Given the description of an element on the screen output the (x, y) to click on. 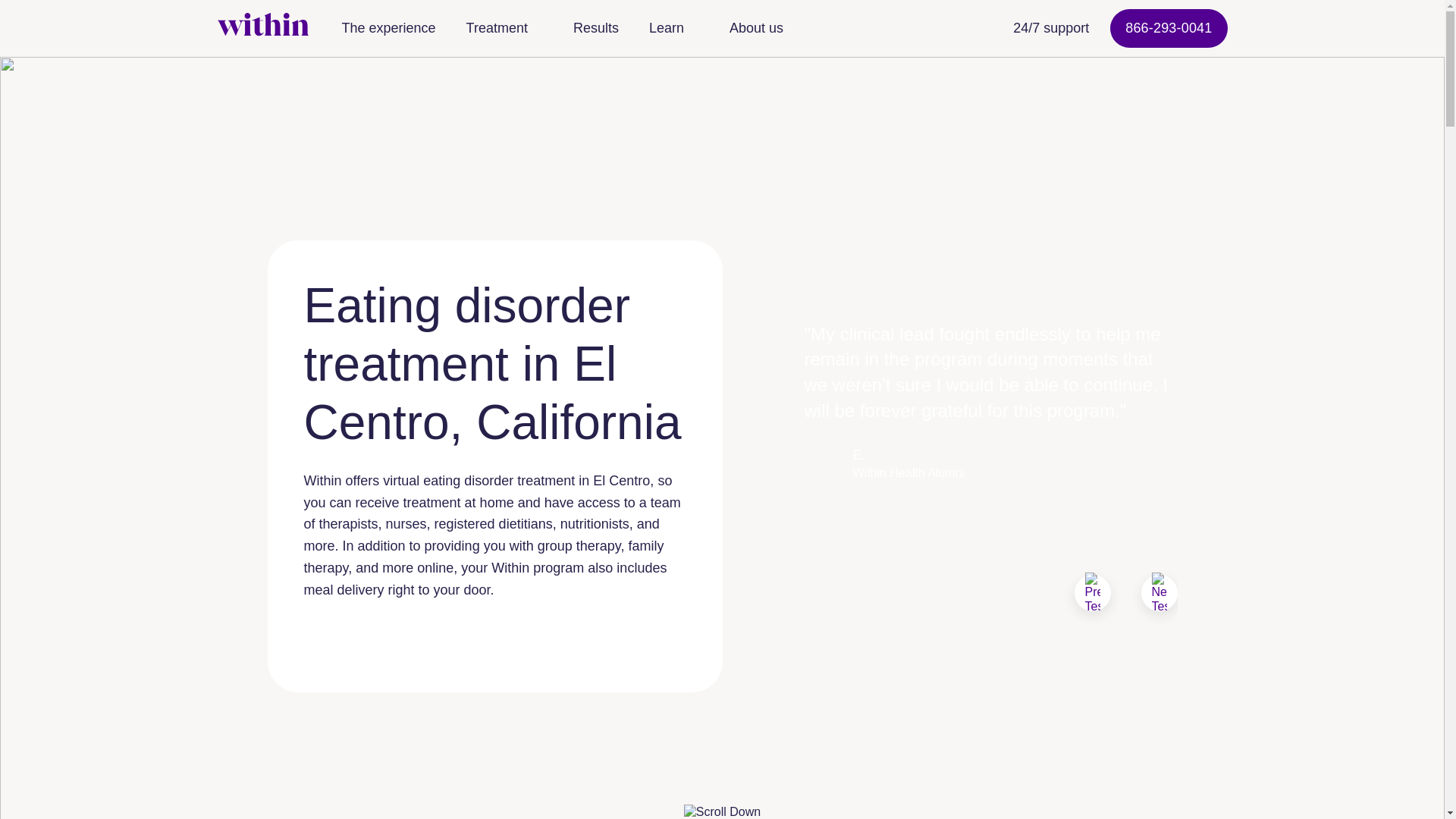
Results (595, 28)
The experience (387, 28)
